Given the description of an element on the screen output the (x, y) to click on. 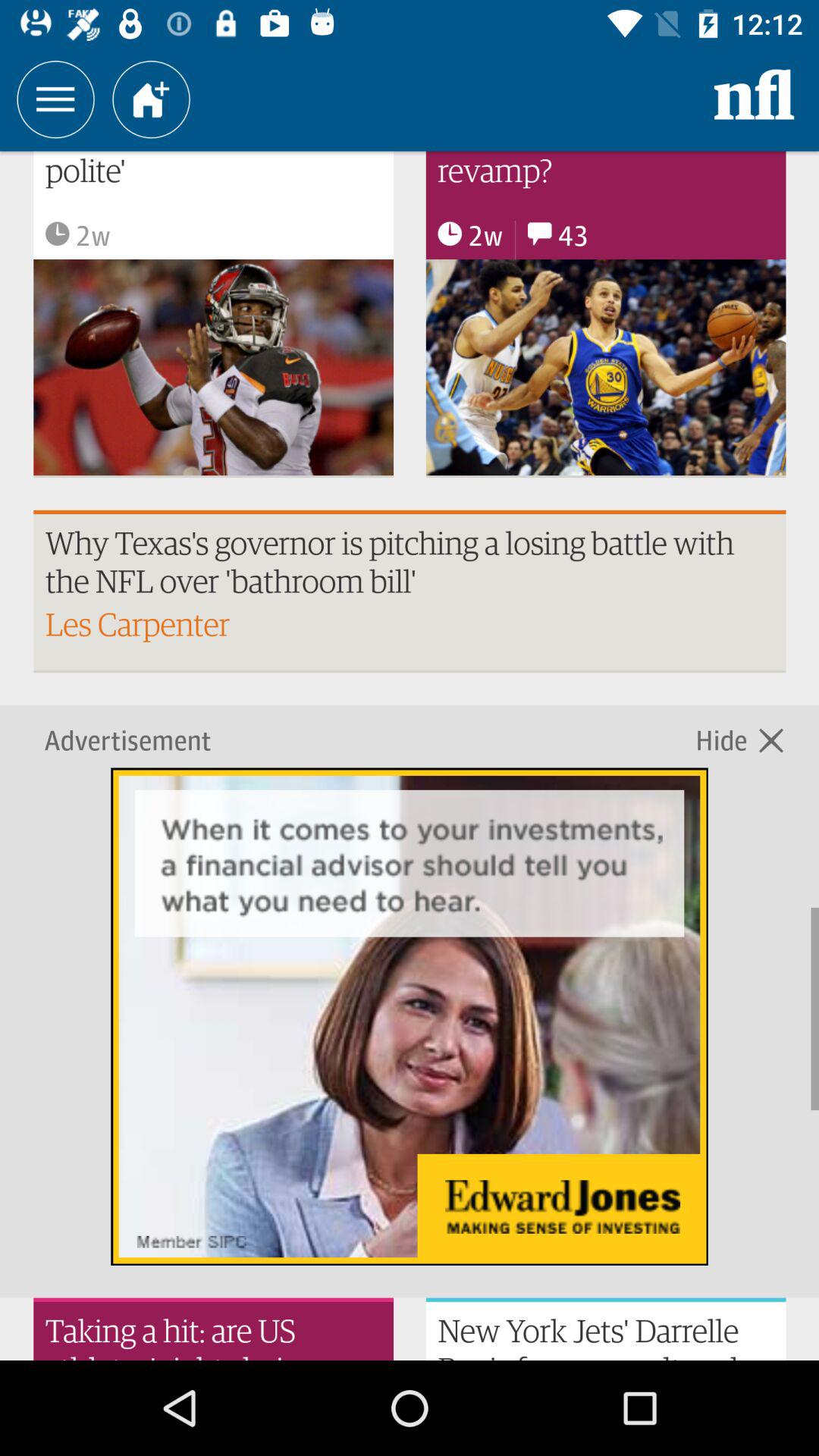
select the text beside newyork jets (213, 1328)
click on text bottom of right corner (605, 1328)
click on the option which shows les carpenter (409, 591)
select the three horizontal line icon (55, 99)
